Given the description of an element on the screen output the (x, y) to click on. 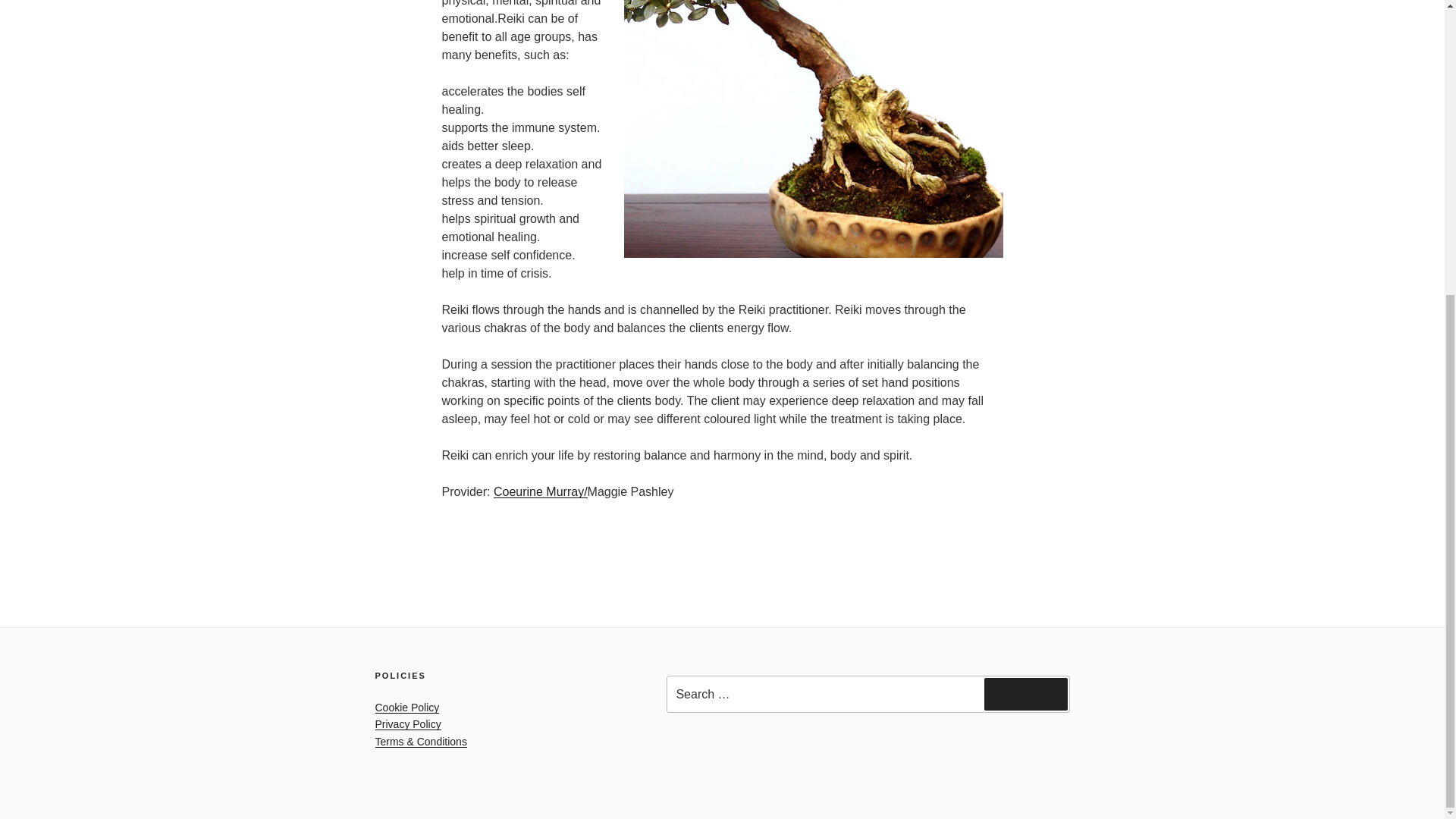
Search (1025, 694)
Cookie Policy (406, 707)
Privacy Policy (407, 724)
